Given the description of an element on the screen output the (x, y) to click on. 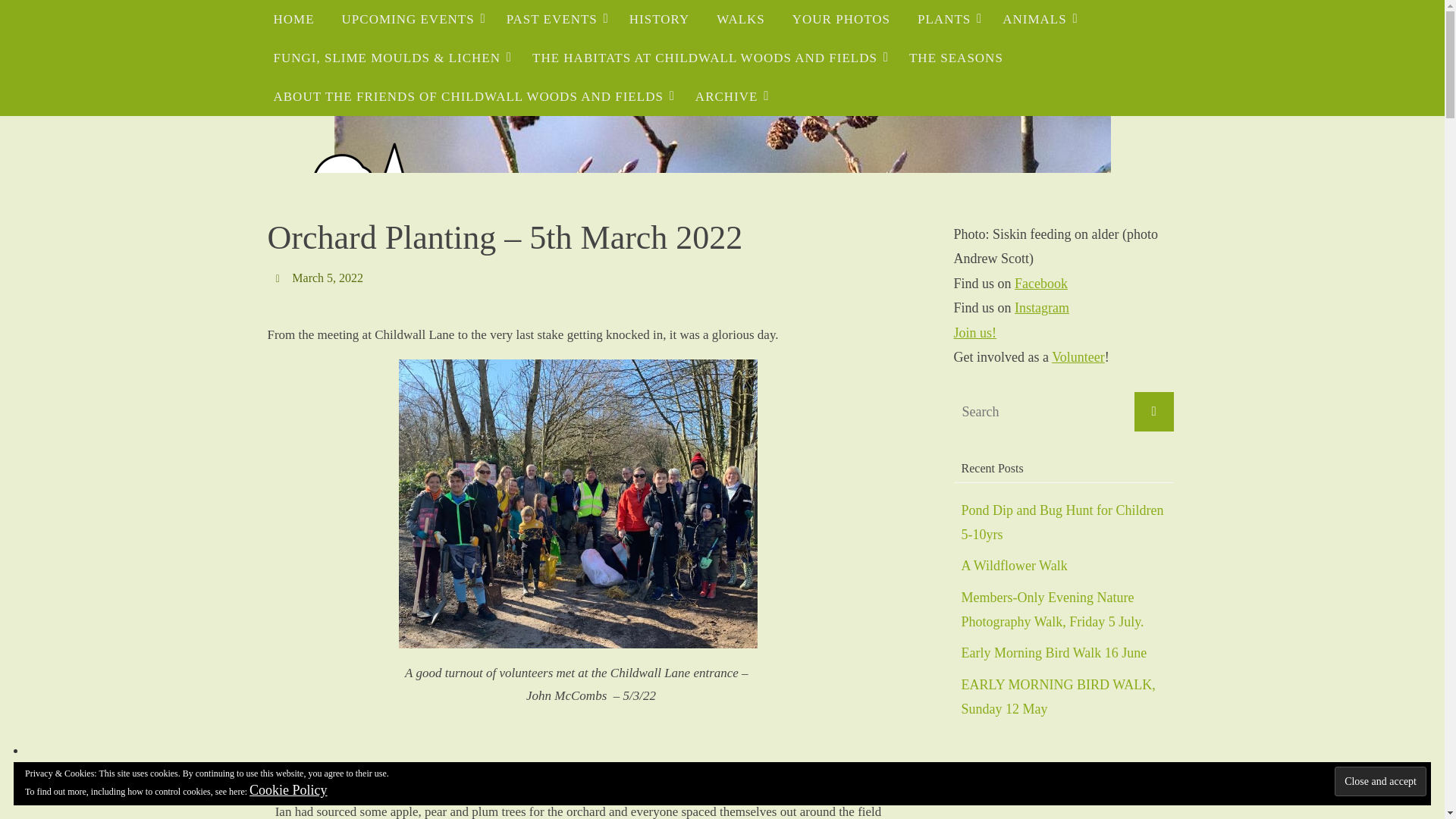
PLANTS (946, 19)
Date (278, 277)
YOUR PHOTOS (841, 19)
HISTORY (659, 19)
ANIMALS (1036, 19)
UPCOMING EVENTS (411, 19)
HOME (293, 19)
WALKS (740, 19)
Friends of Childwall Woods and Fields (361, 237)
PAST EVENTS (554, 19)
Close and accept (1380, 781)
